Given the description of an element on the screen output the (x, y) to click on. 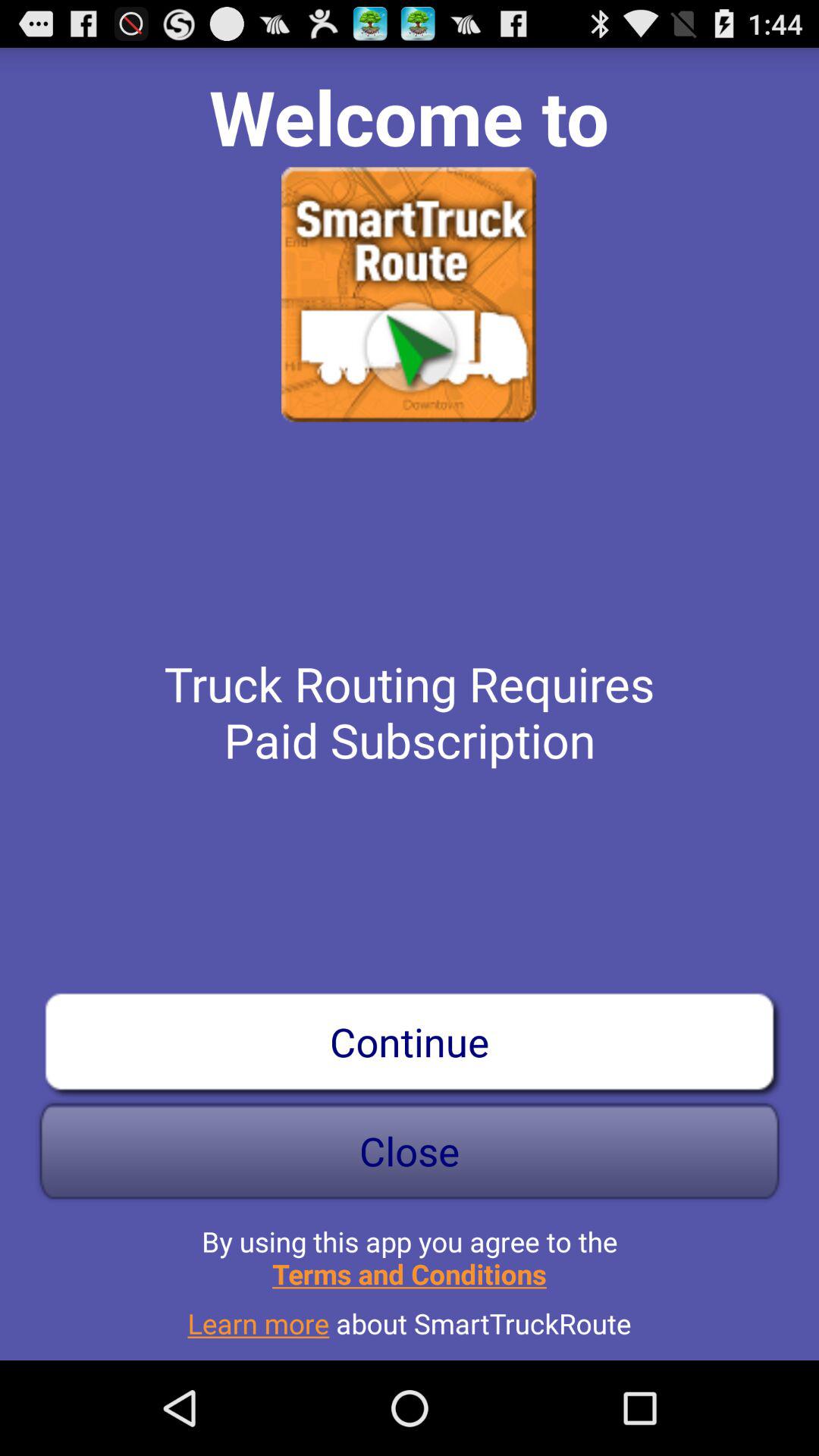
swipe until the by using this icon (409, 1251)
